Given the description of an element on the screen output the (x, y) to click on. 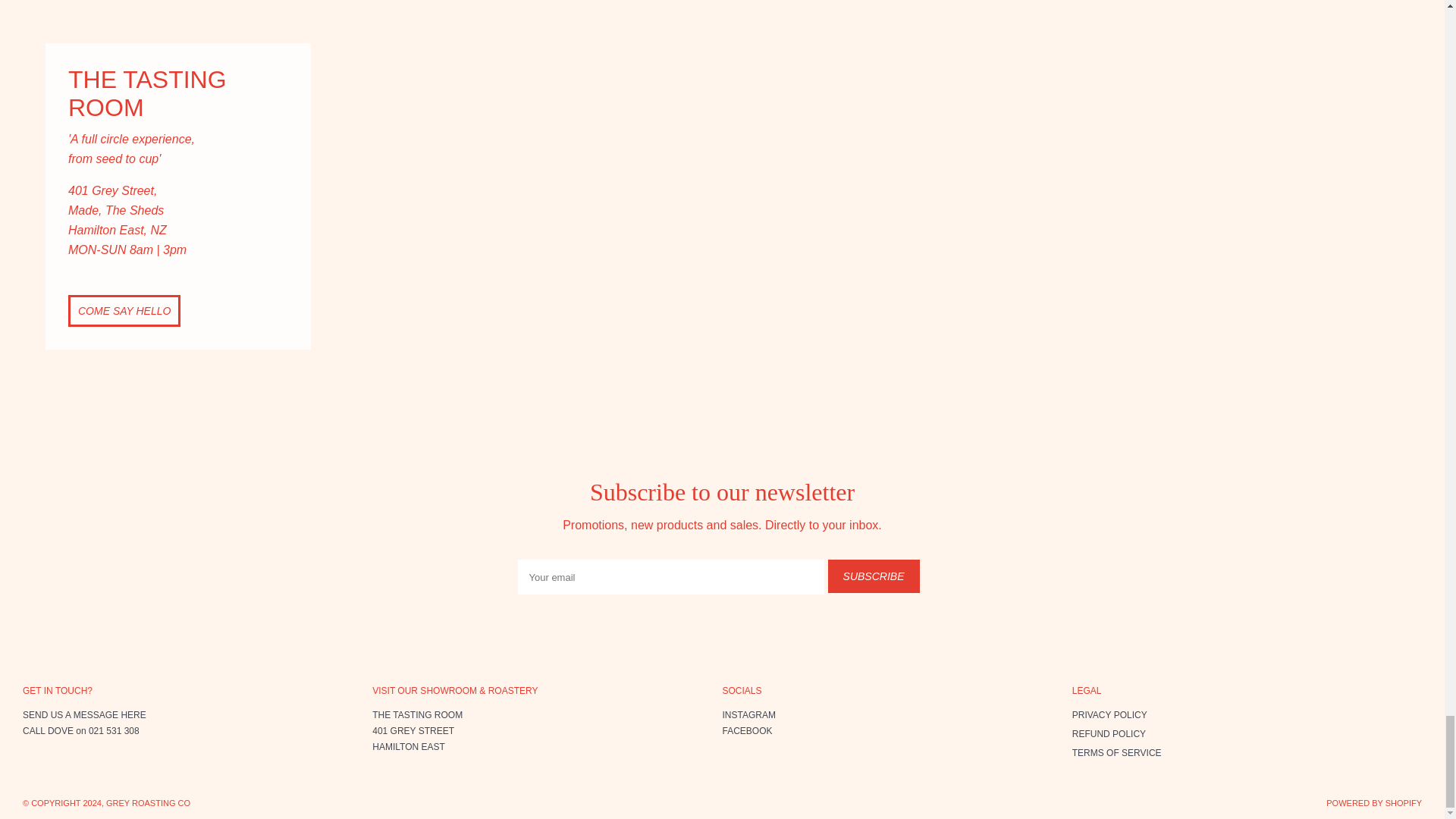
LOCATION (417, 715)
Subscribe (874, 575)
LOCATION (413, 730)
Contact Form (85, 715)
